Given the description of an element on the screen output the (x, y) to click on. 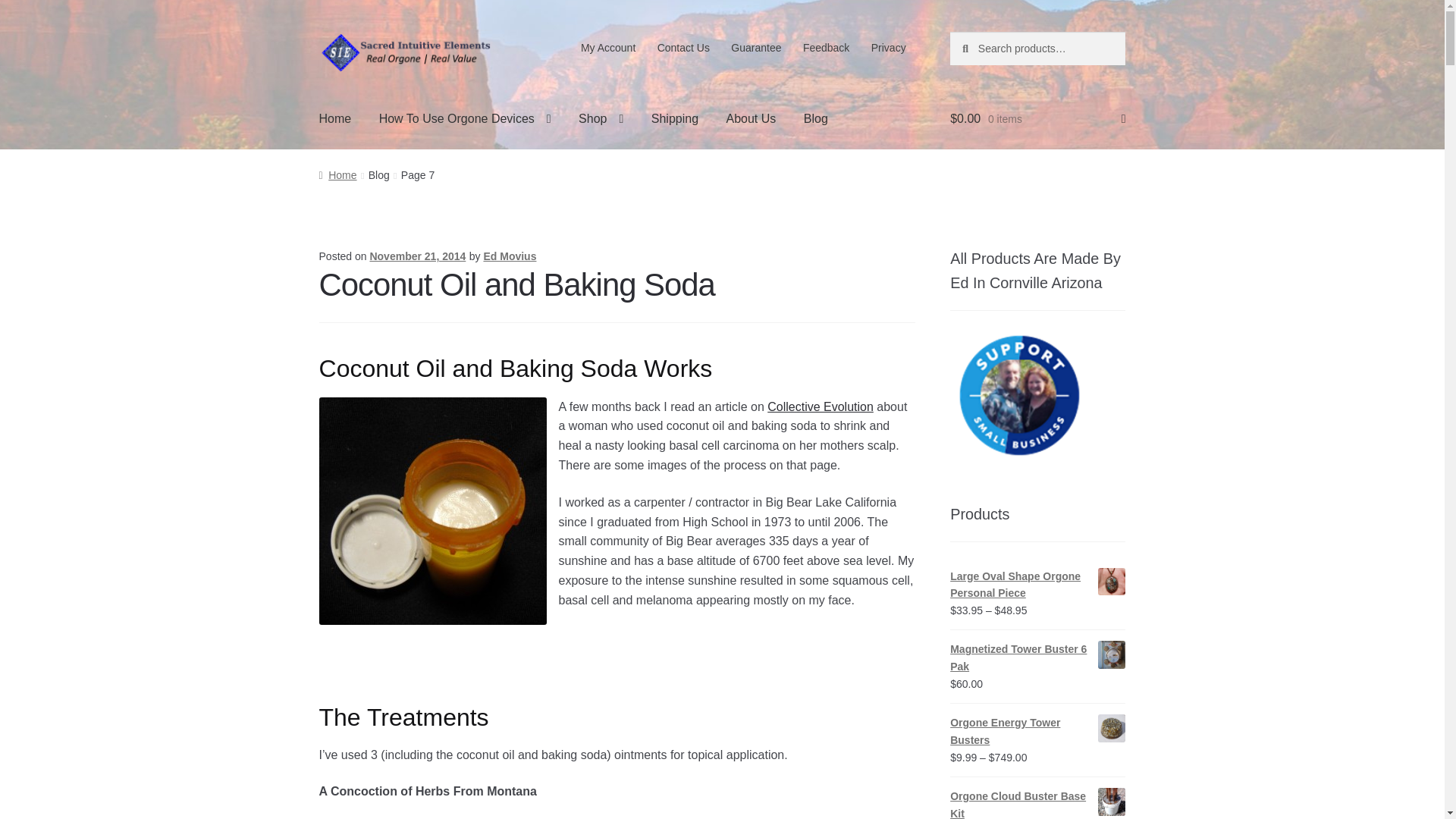
How To Use Orgone Devices (464, 118)
Shop (600, 118)
Contact Us (683, 47)
About Us (750, 118)
Shipping (674, 118)
View your shopping cart (1037, 118)
Feedback (826, 47)
Article on Collective Evolution (820, 406)
Home (335, 118)
Guarantee (756, 47)
My Account (608, 47)
Privacy (887, 47)
